Given the description of an element on the screen output the (x, y) to click on. 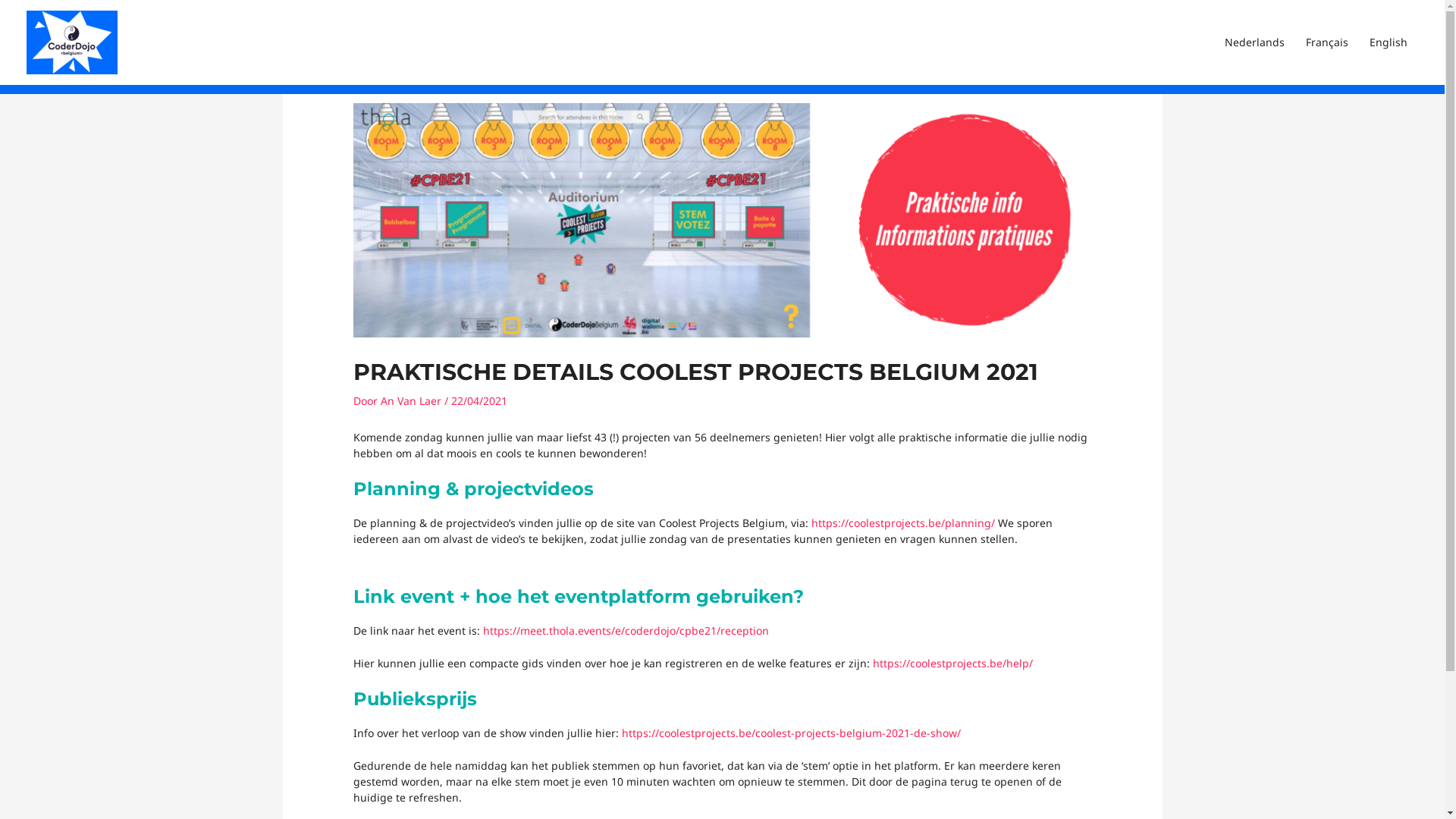
https://coolestprojects.be/planning/ Element type: text (904, 522)
An Van Laer Element type: text (412, 400)
https://meet.thola.events/e/coderdojo/cpbe21/reception Element type: text (625, 630)
Nederlands Element type: text (1254, 42)
English Element type: text (1388, 42)
https://coolestprojects.be/help/ Element type: text (952, 662)
